Given the description of an element on the screen output the (x, y) to click on. 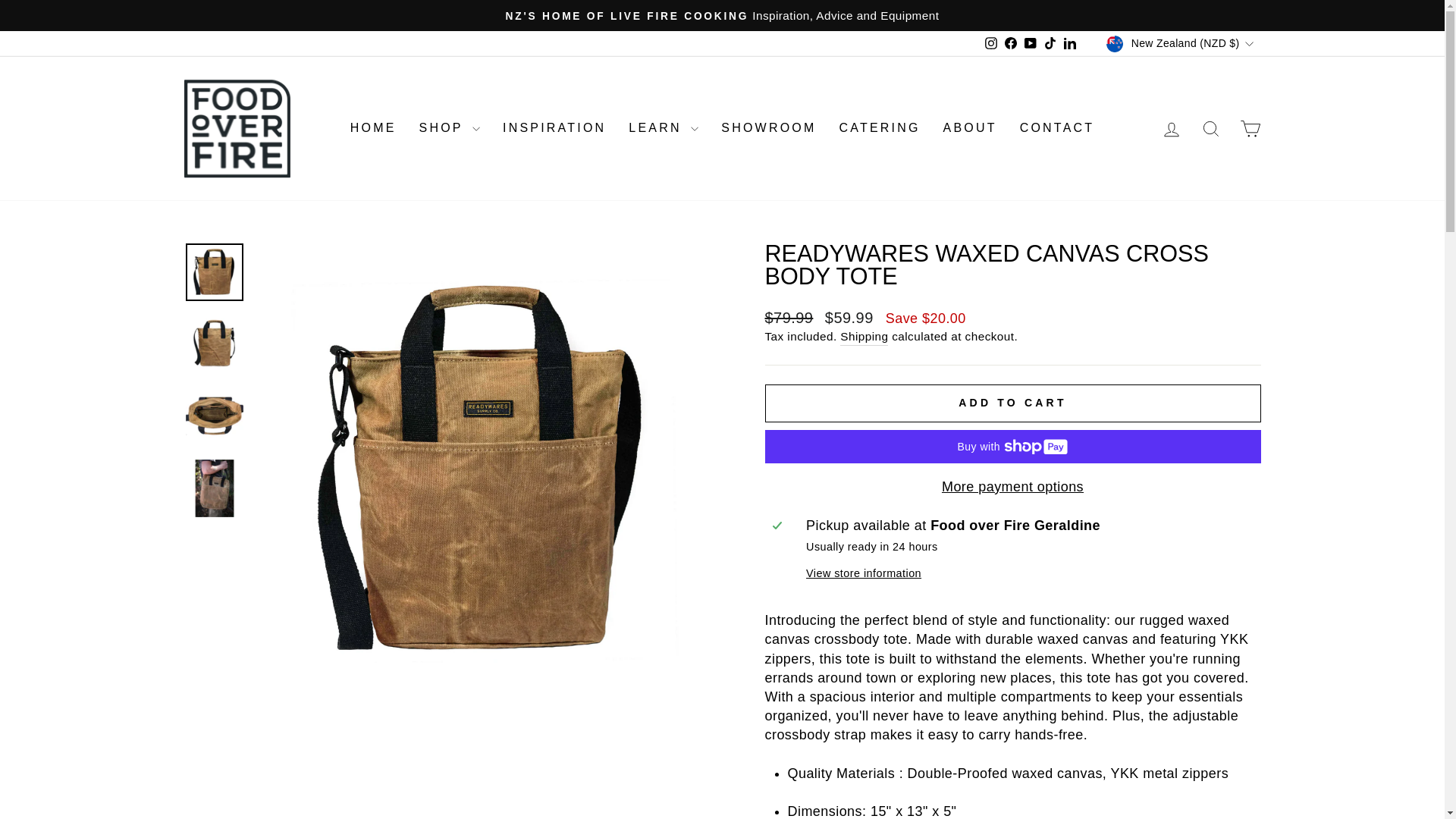
ACCOUNT (1170, 129)
instagram (991, 42)
ICON-SEARCH (1210, 128)
